Given the description of an element on the screen output the (x, y) to click on. 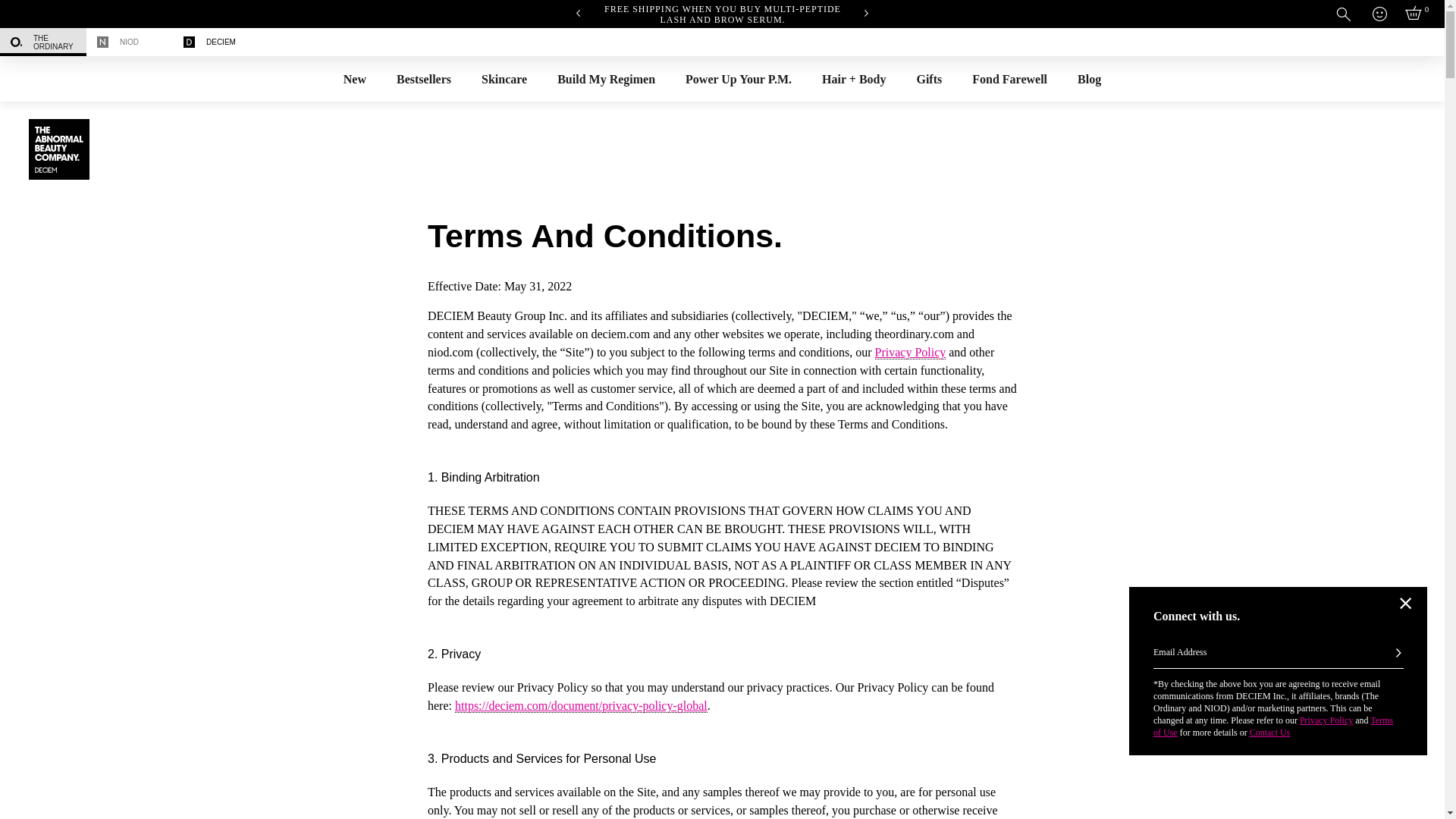
THE ORDINARY (42, 41)
0 (1414, 13)
Bestsellers (423, 78)
Next (866, 12)
DECIEM (216, 41)
New (355, 78)
New (355, 78)
Build My Regimen (605, 78)
Fond Farewell (1009, 78)
Bestsellers (423, 78)
Previous (577, 12)
Cart 0 Items (1414, 13)
Power Up Your P.M. (737, 78)
NIOD (129, 41)
Open search form (1344, 13)
